Given the description of an element on the screen output the (x, y) to click on. 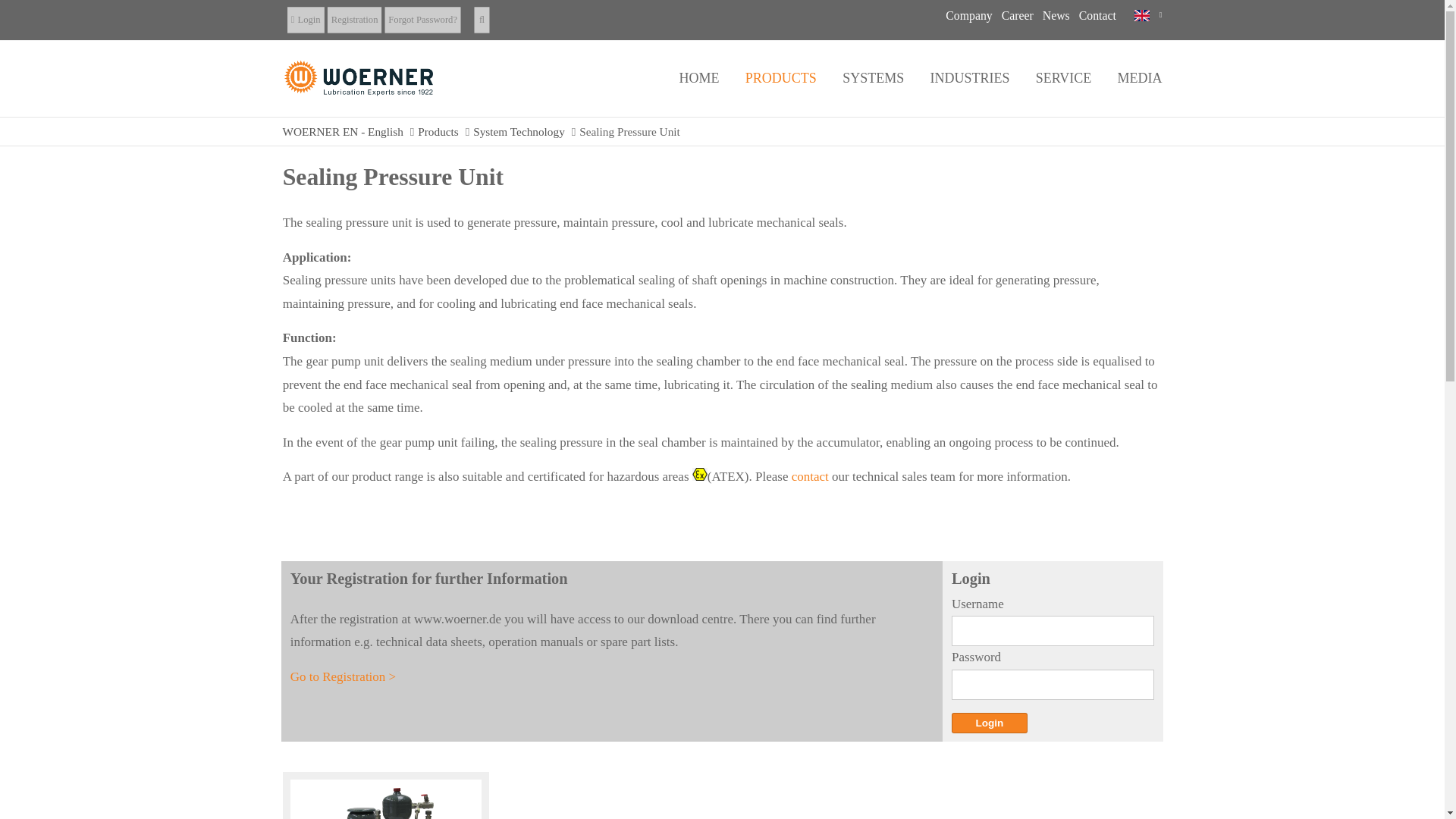
Login (989, 722)
